Given the description of an element on the screen output the (x, y) to click on. 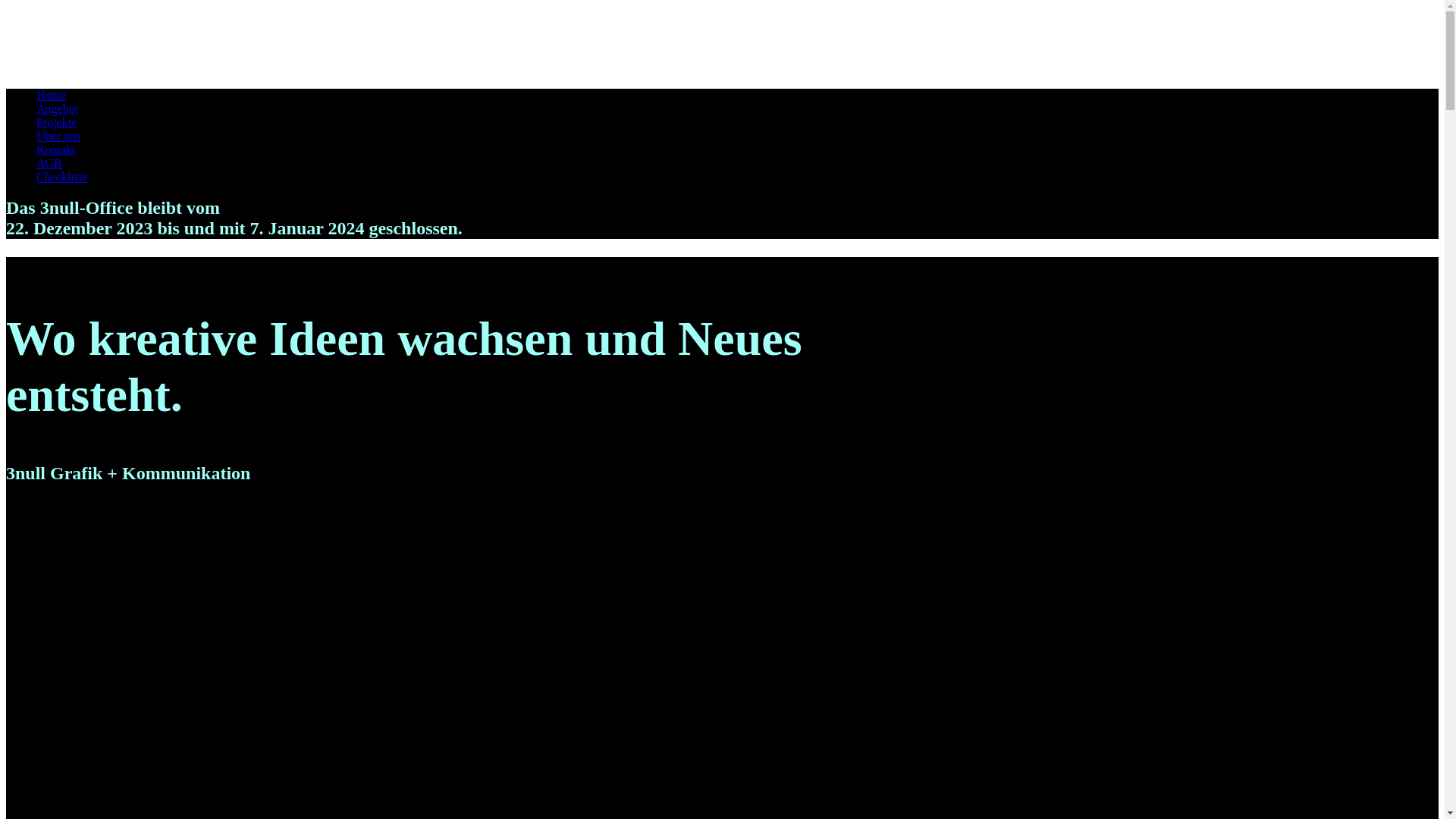
Home Element type: text (50, 94)
Angebot Element type: text (57, 108)
Kontakt Element type: text (55, 149)
AGB Element type: text (49, 162)
Projekte Element type: text (56, 122)
Checkliste Element type: text (61, 176)
